Given the description of an element on the screen output the (x, y) to click on. 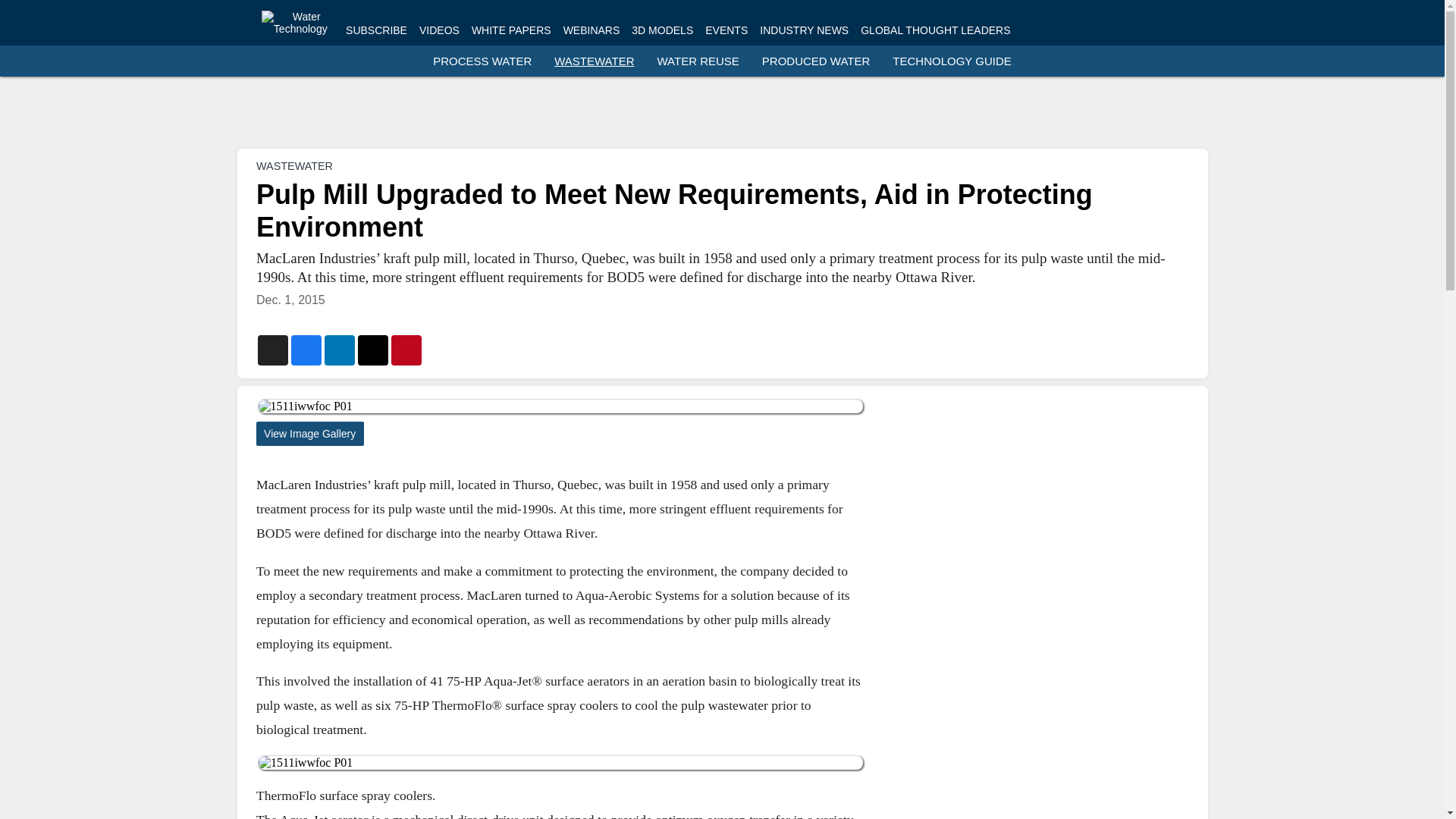
GLOBAL THOUGHT LEADERS (935, 30)
WEBINARS (591, 30)
PRODUCED WATER (815, 60)
TECHNOLOGY GUIDE (951, 60)
WASTEWATER (294, 165)
SUBSCRIBE (376, 30)
WATER REUSE (698, 60)
PROCESS WATER (481, 60)
INDUSTRY NEWS (804, 30)
1511iwwfoc P01 (559, 762)
